Given the description of an element on the screen output the (x, y) to click on. 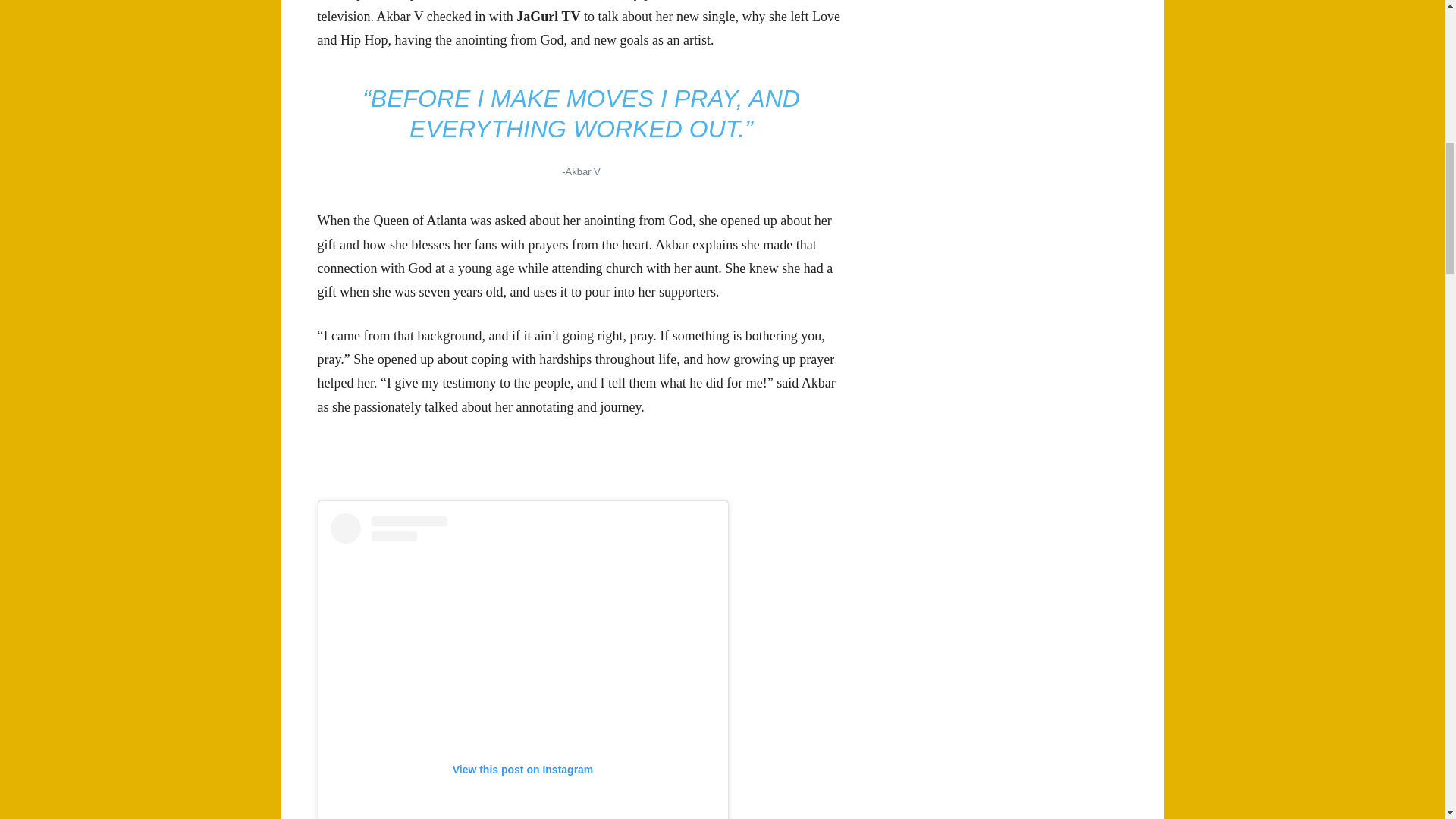
Advertisement (580, 461)
